Given the description of an element on the screen output the (x, y) to click on. 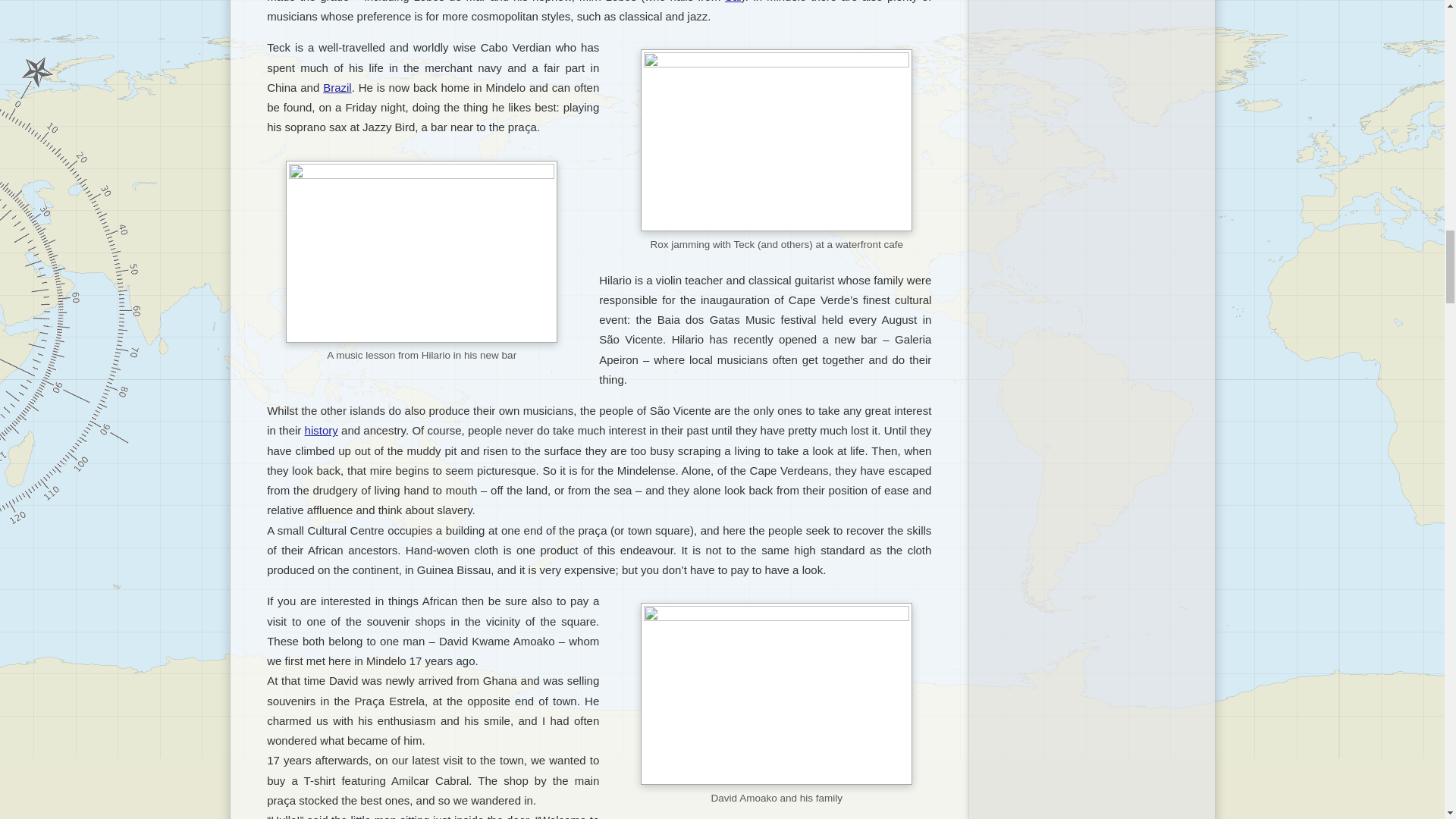
Brazil (337, 87)
Sal (733, 1)
